Given the description of an element on the screen output the (x, y) to click on. 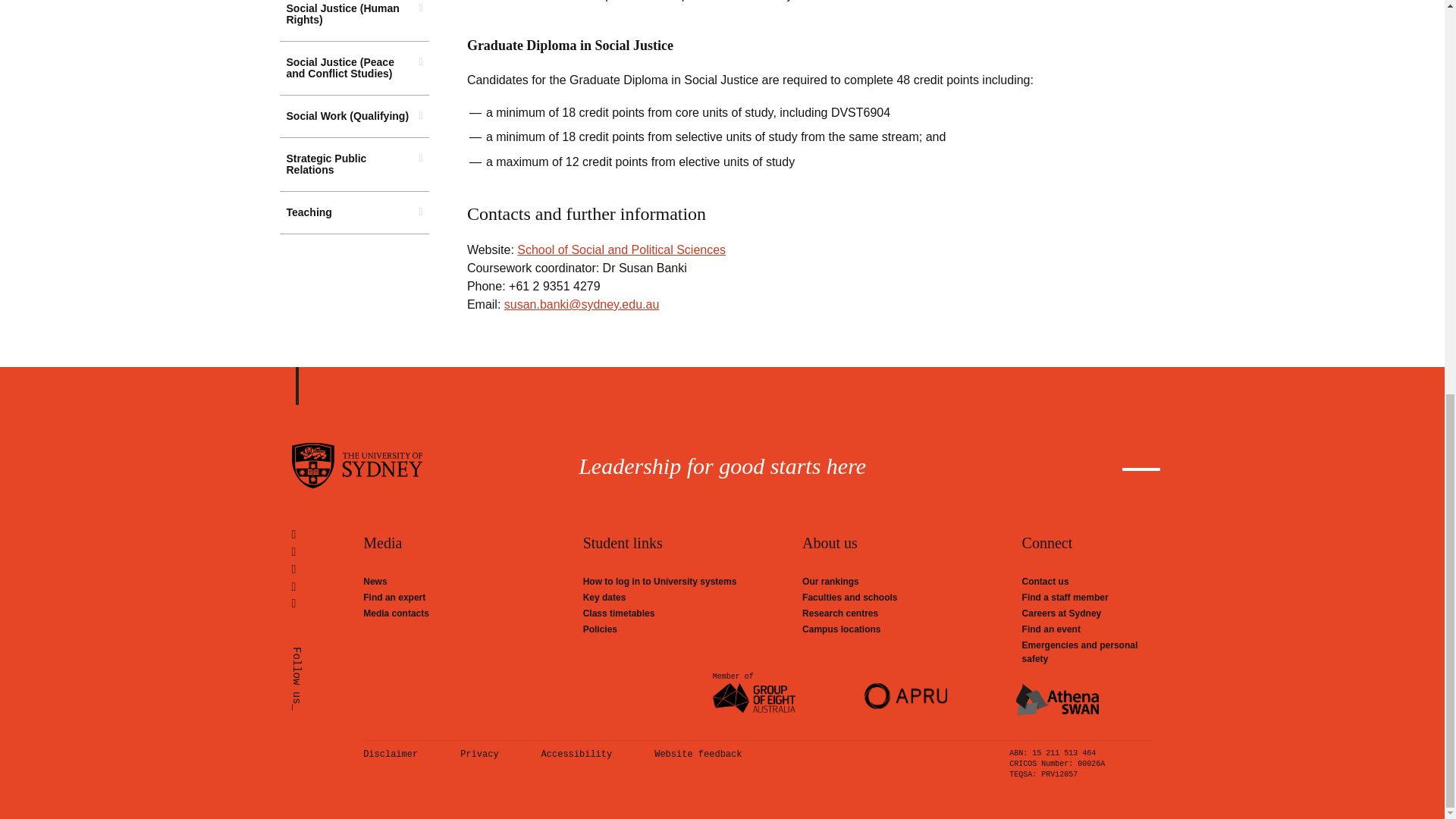
University of Sydney Twitter (326, 534)
University of Sydney Wechat (326, 603)
University of Sydney Youtube  (326, 587)
University of Sydney Instagram (326, 569)
University of Sydney Facebook (326, 552)
